Given the description of an element on the screen output the (x, y) to click on. 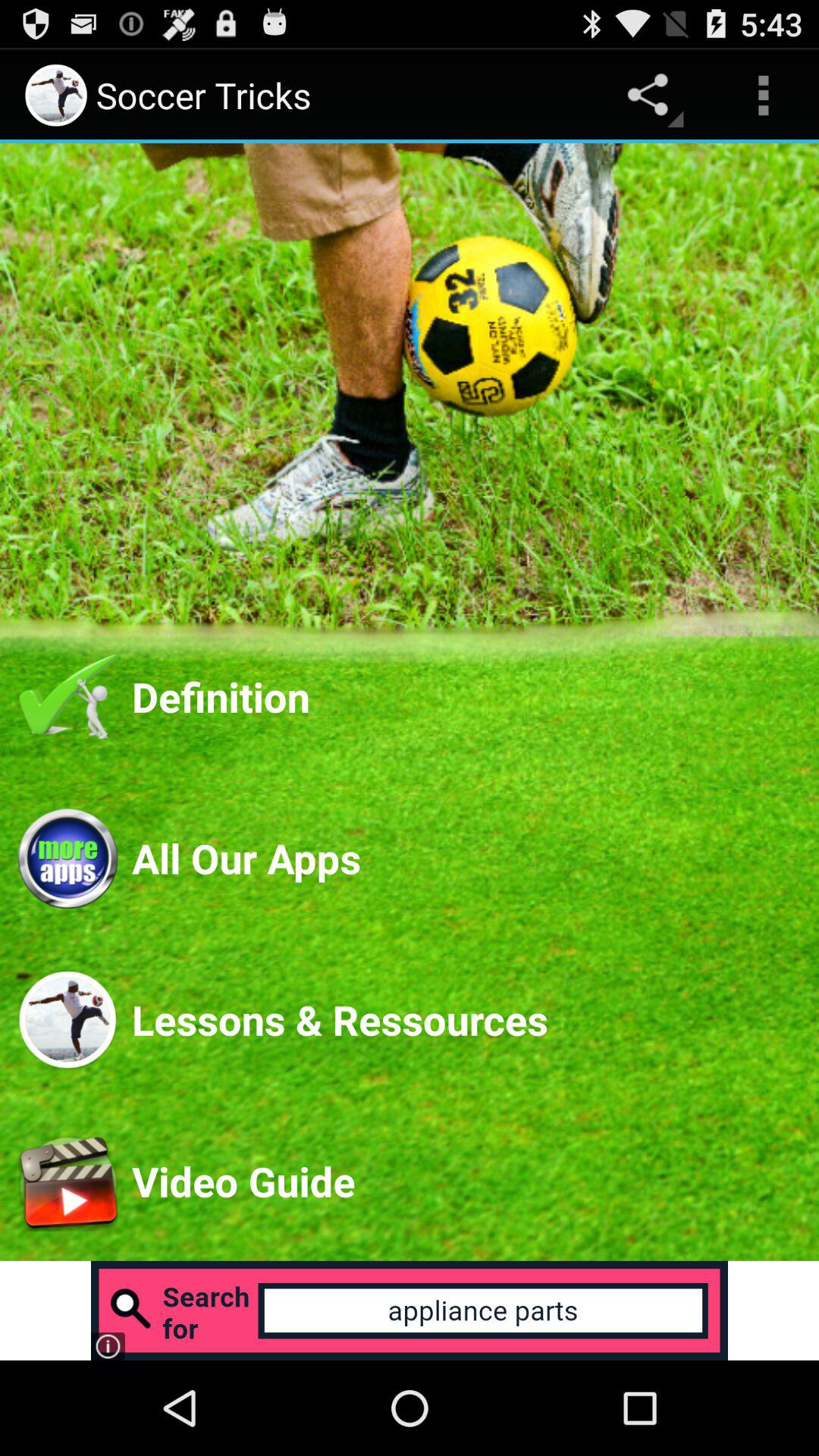
open the icon below the lessons & ressources (465, 1180)
